Given the description of an element on the screen output the (x, y) to click on. 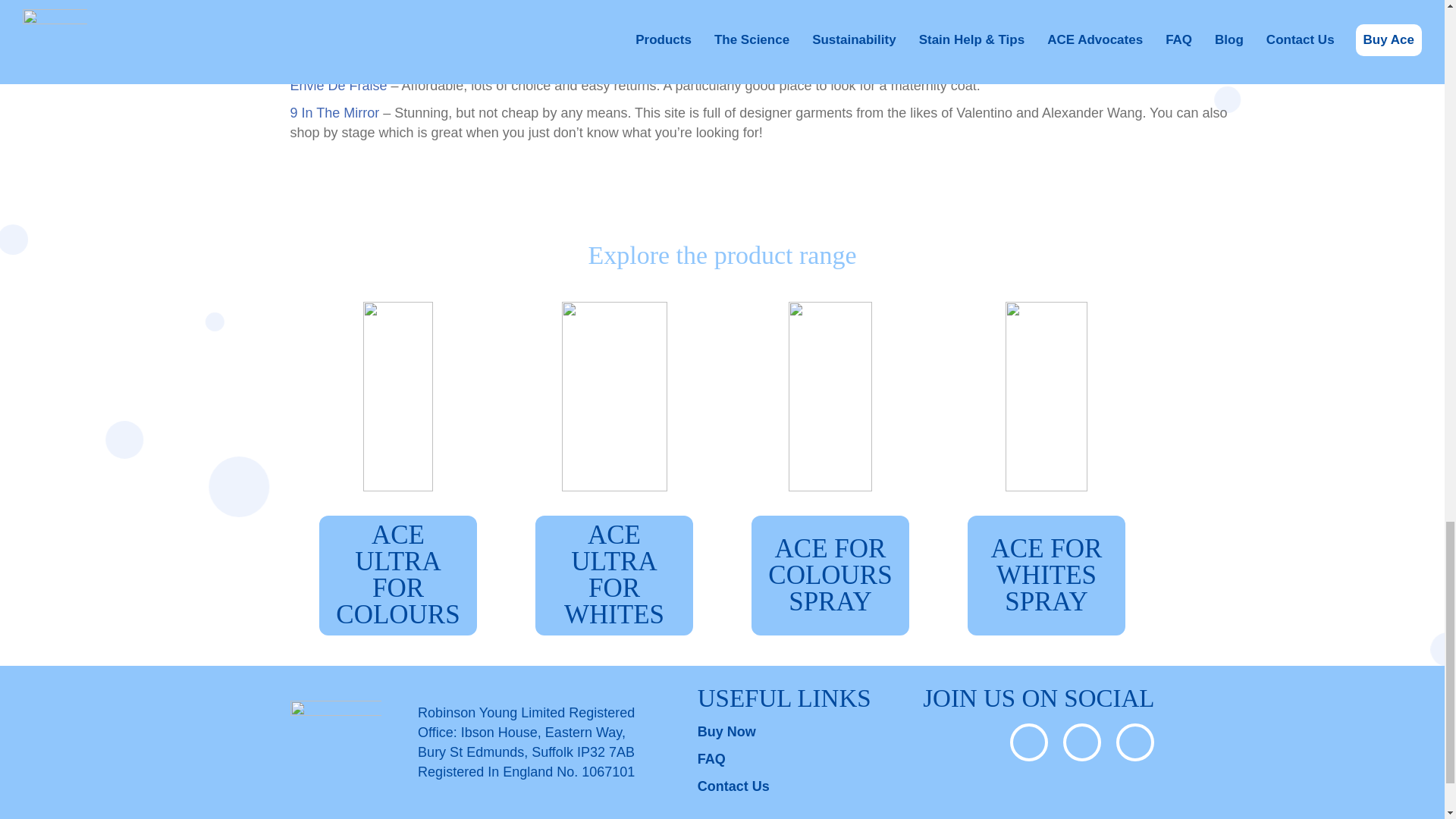
ACE ULTRA FOR COLOURS (397, 575)
Contact Us (733, 785)
Tiffany Rose Maternity (357, 38)
ACE FOR WHITES SPRAY (1046, 575)
Buy Now (726, 731)
Heavenly Bump (337, 11)
9 In The Mirror (333, 112)
FAQ (711, 758)
ACE FOR COLOURS SPRAY (829, 575)
ACE ULTRA FOR WHITES (614, 575)
